Given the description of an element on the screen output the (x, y) to click on. 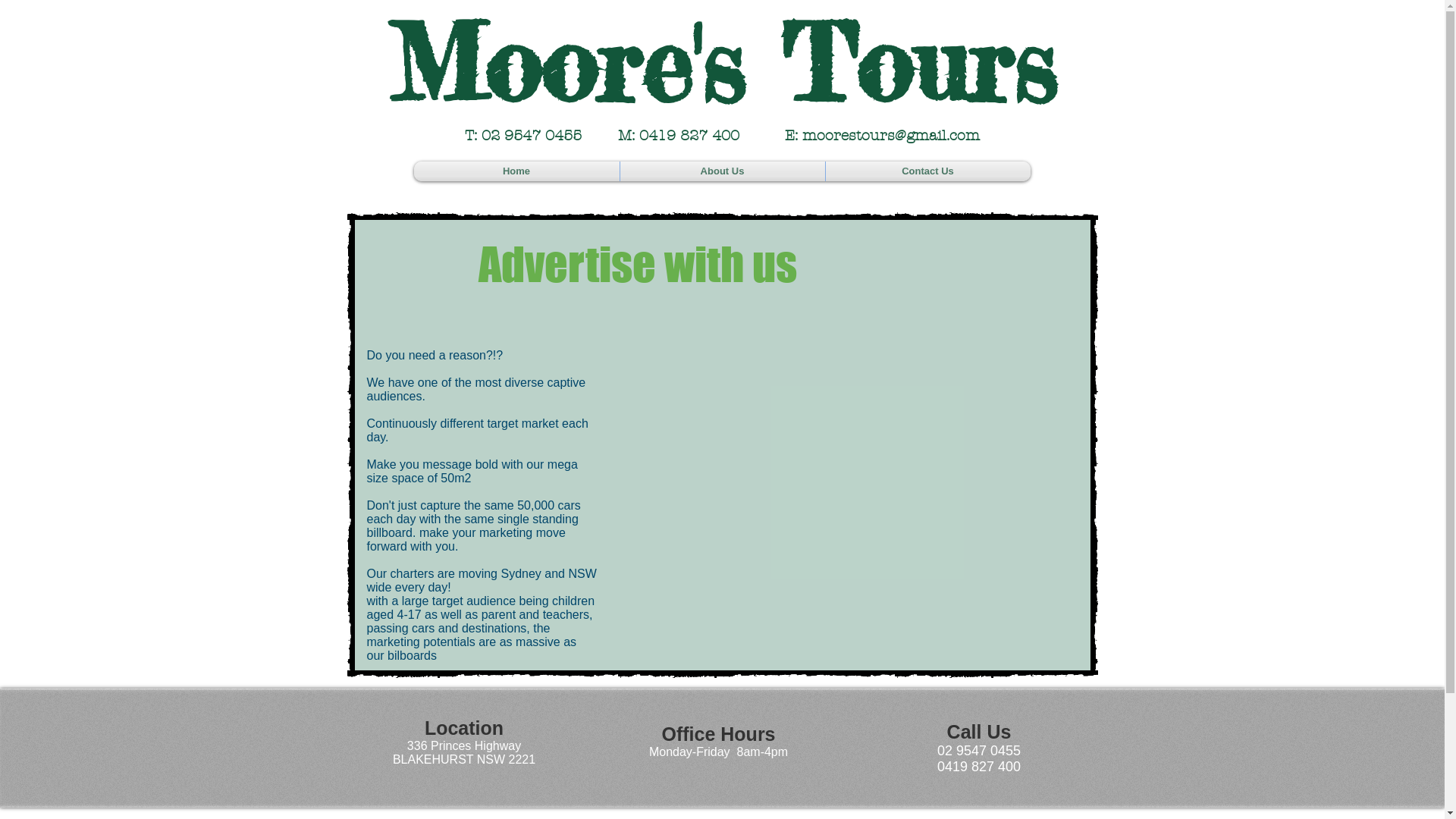
moorestours@gmail.com Element type: text (890, 135)
Contact Us Element type: text (927, 171)
Home Element type: text (516, 171)
About Us Element type: text (722, 171)
